Given the description of an element on the screen output the (x, y) to click on. 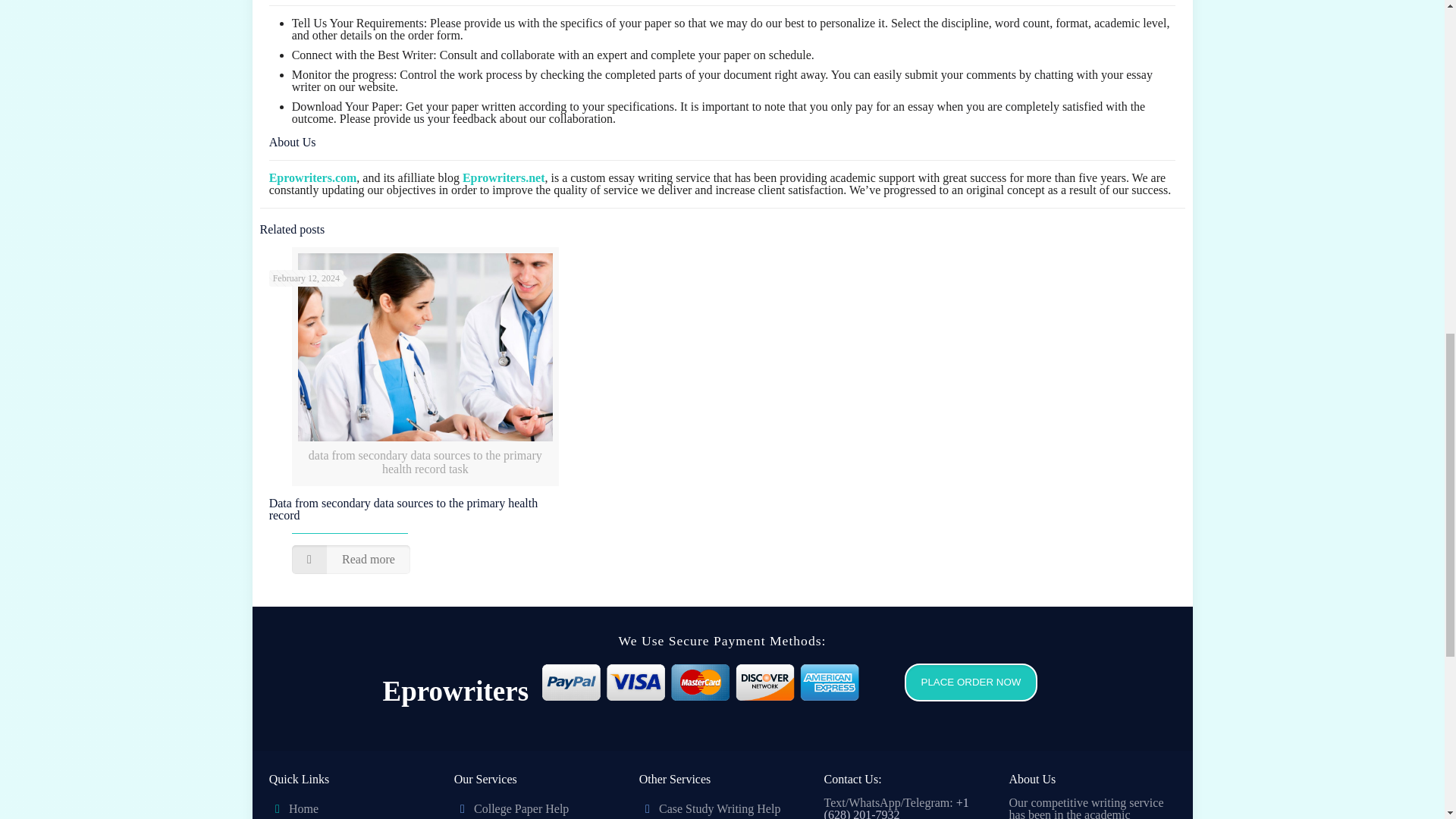
Eprowriters.com (312, 177)
Home (303, 808)
PLACE ORDER NOW (971, 682)
Eprowriters.net (503, 177)
Read more (351, 559)
PLACE ORDER NOW (962, 695)
